Given the description of an element on the screen output the (x, y) to click on. 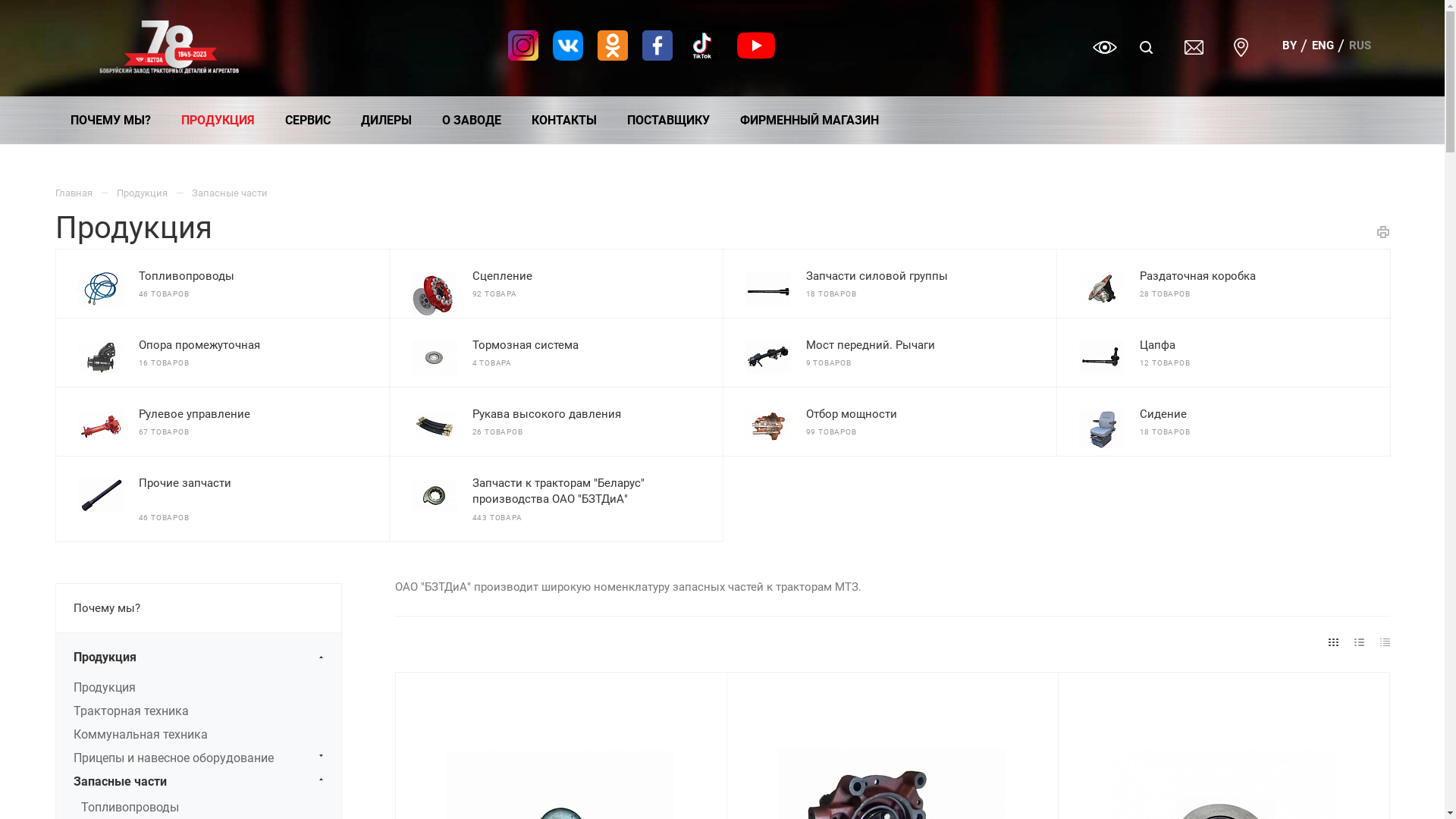
BY Element type: text (1289, 45)
ENG Element type: text (1321, 45)
